Given the description of an element on the screen output the (x, y) to click on. 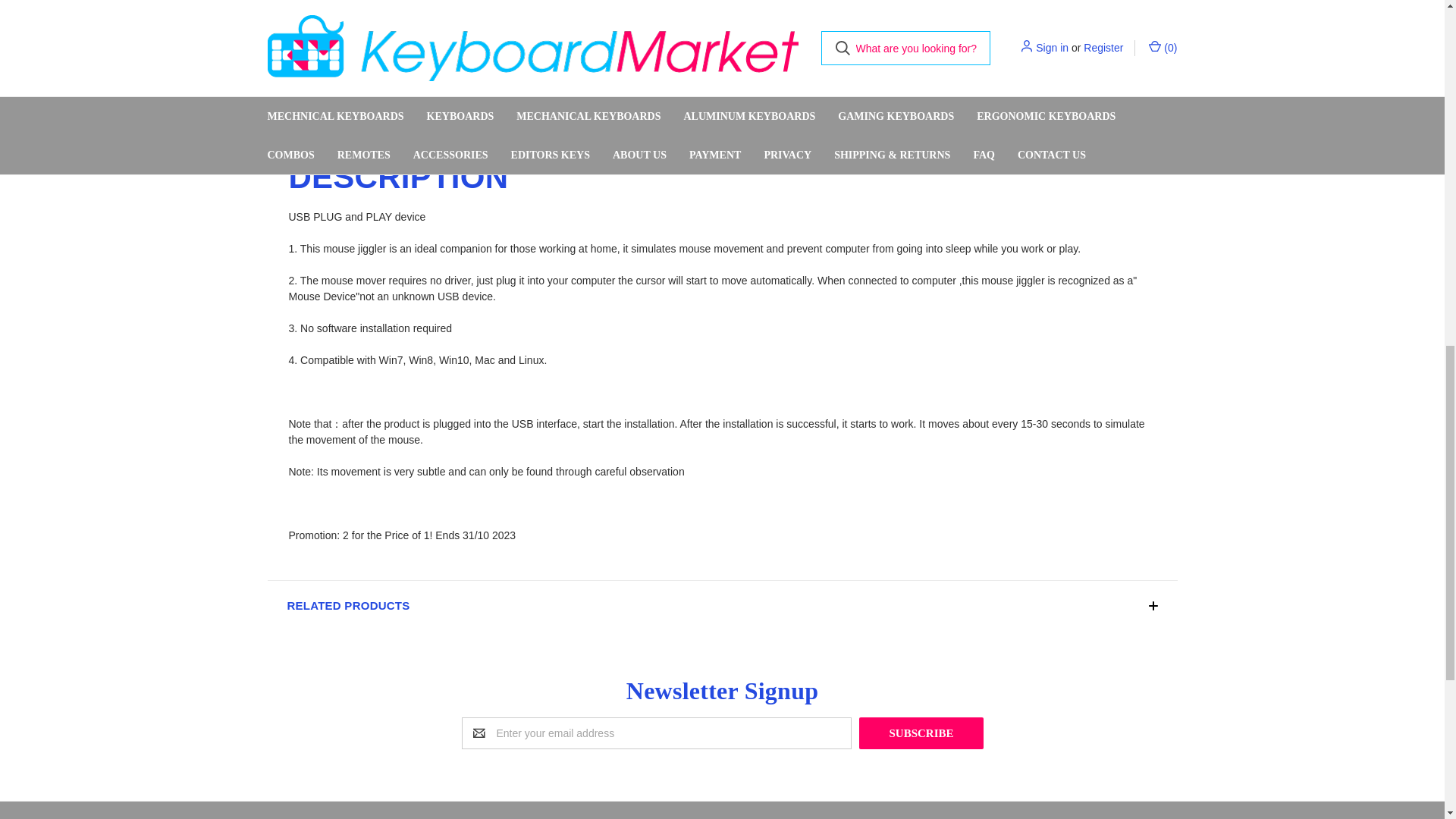
Rii Automatic Mouse Jiggler RT-030 (535, 8)
Subscribe (920, 733)
